Given the description of an element on the screen output the (x, y) to click on. 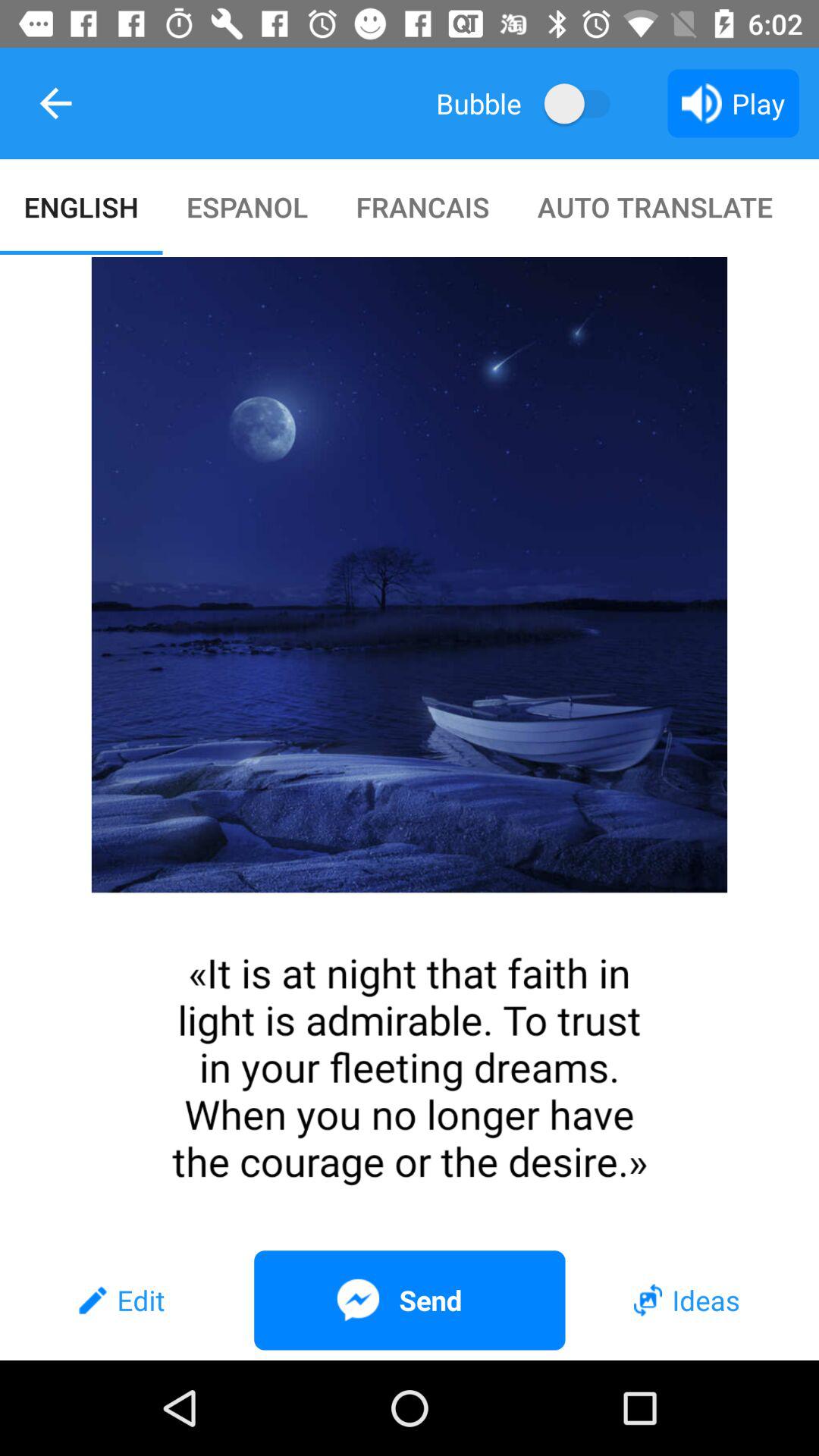
turn off the item to the right of bubble (584, 103)
